Given the description of an element on the screen output the (x, y) to click on. 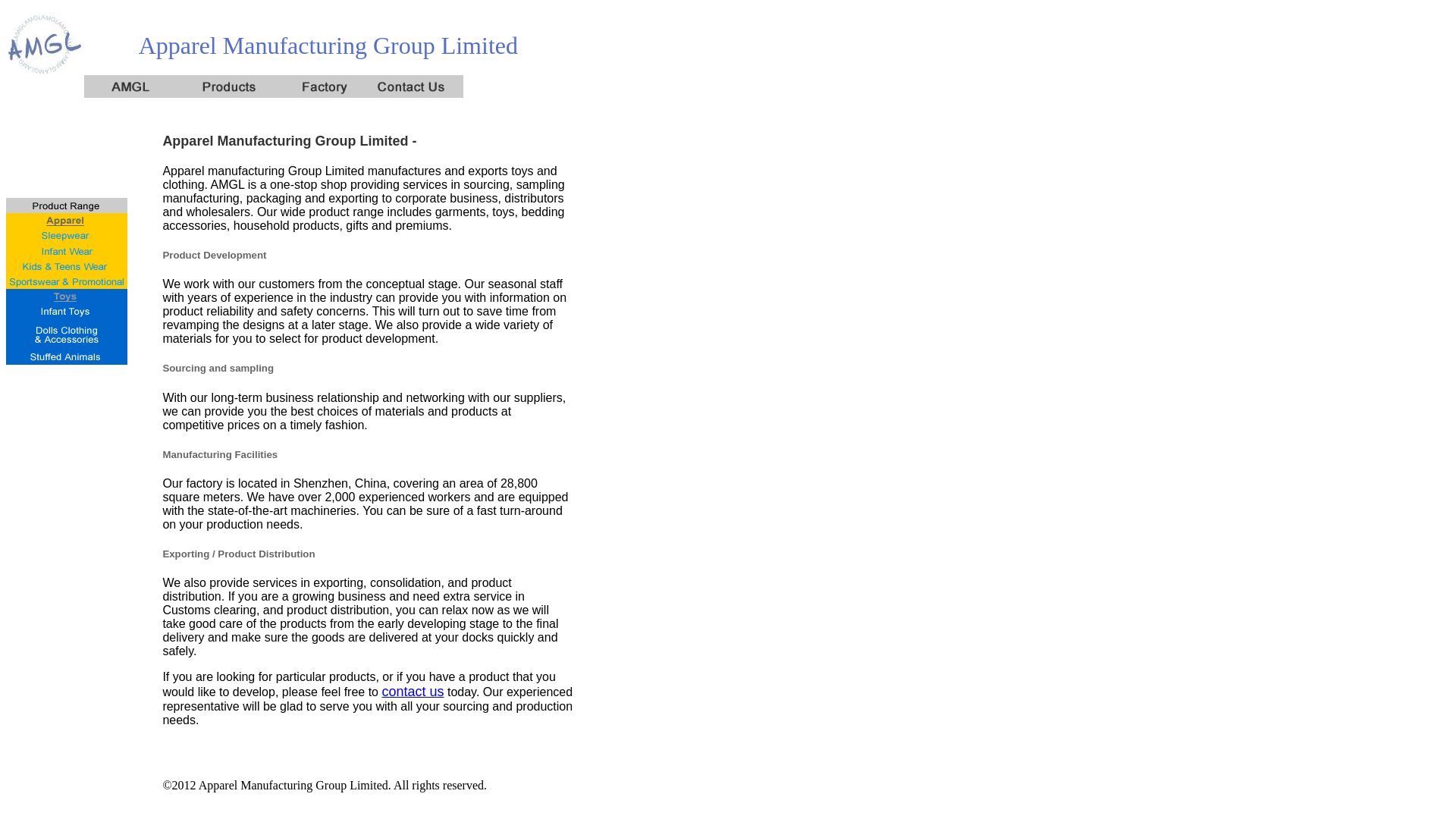
contact us Element type: text (412, 691)
